Given the description of an element on the screen output the (x, y) to click on. 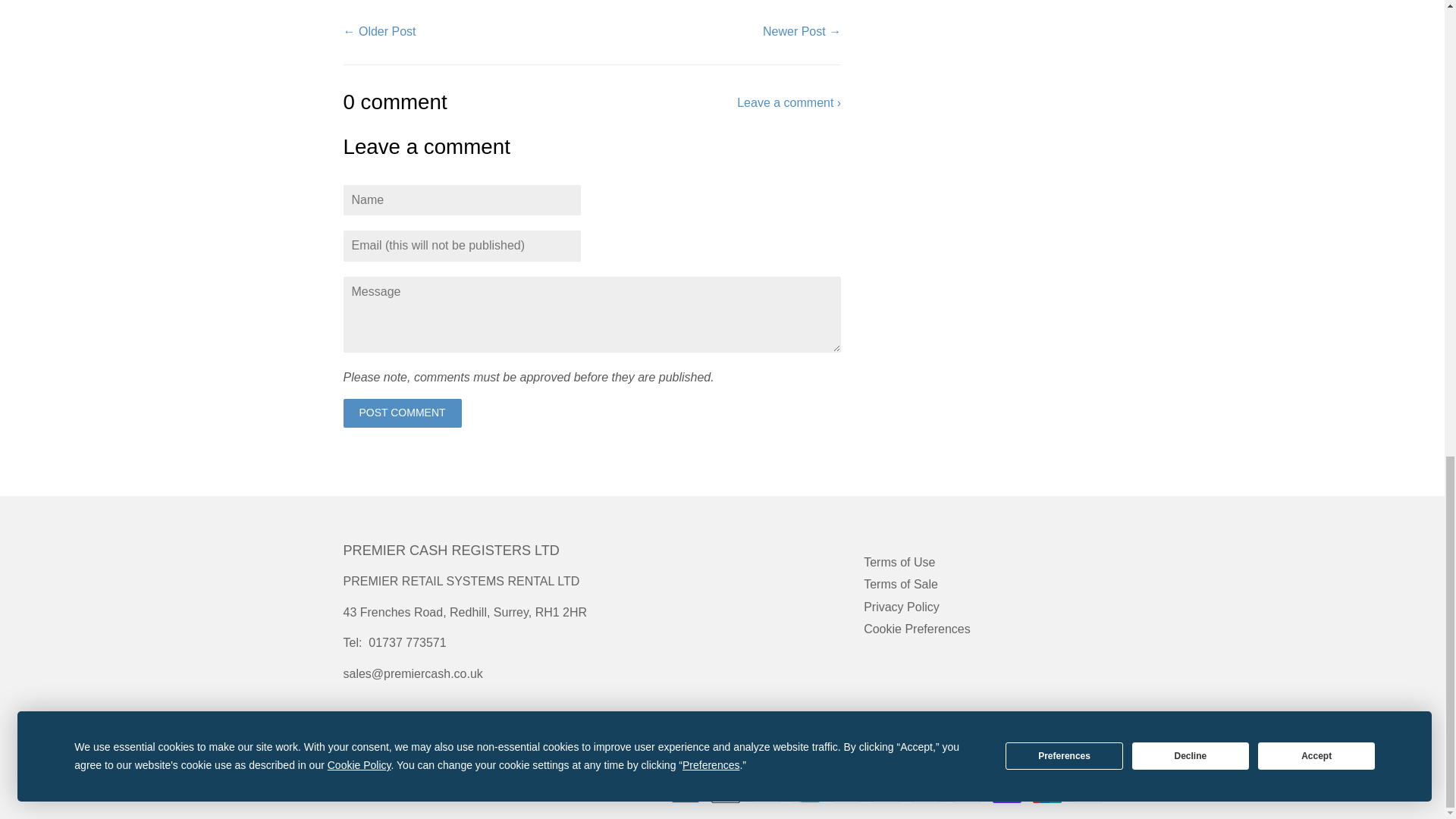
Union Pay (1046, 793)
Apple Pay (725, 793)
Mastercard (925, 793)
American Express (683, 793)
Maestro (886, 793)
Google Pay (845, 793)
Post comment (401, 412)
Diners Club (764, 793)
PayPal (966, 793)
Visa (1085, 793)
